Given the description of an element on the screen output the (x, y) to click on. 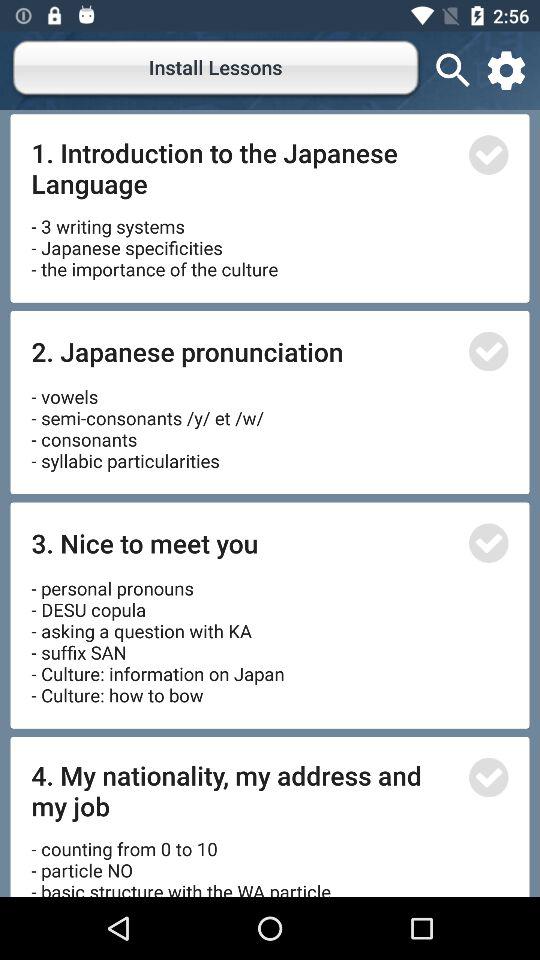
open icon above personal pronouns desu icon (243, 542)
